Given the description of an element on the screen output the (x, y) to click on. 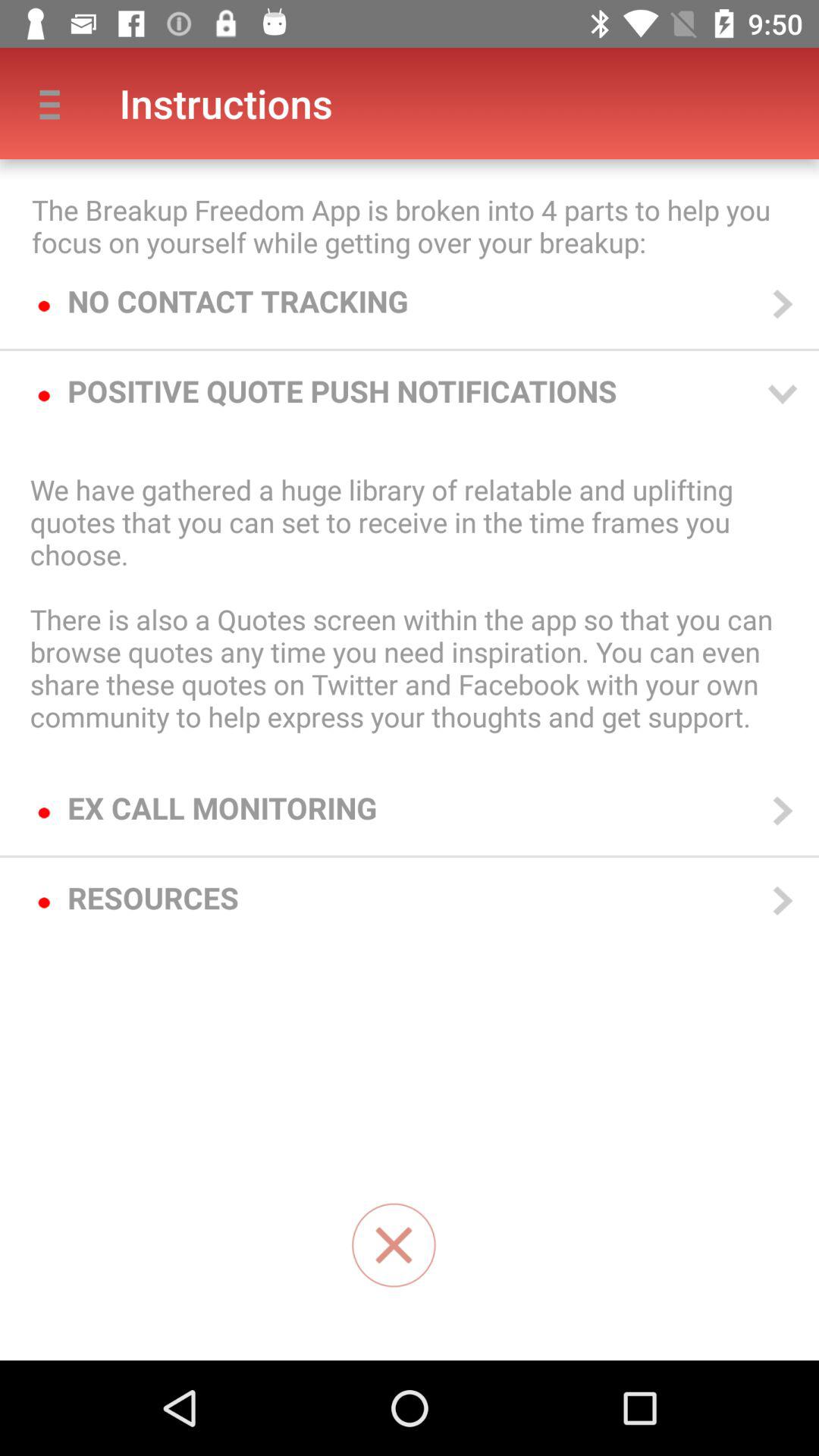
close instructions (393, 1245)
